Given the description of an element on the screen output the (x, y) to click on. 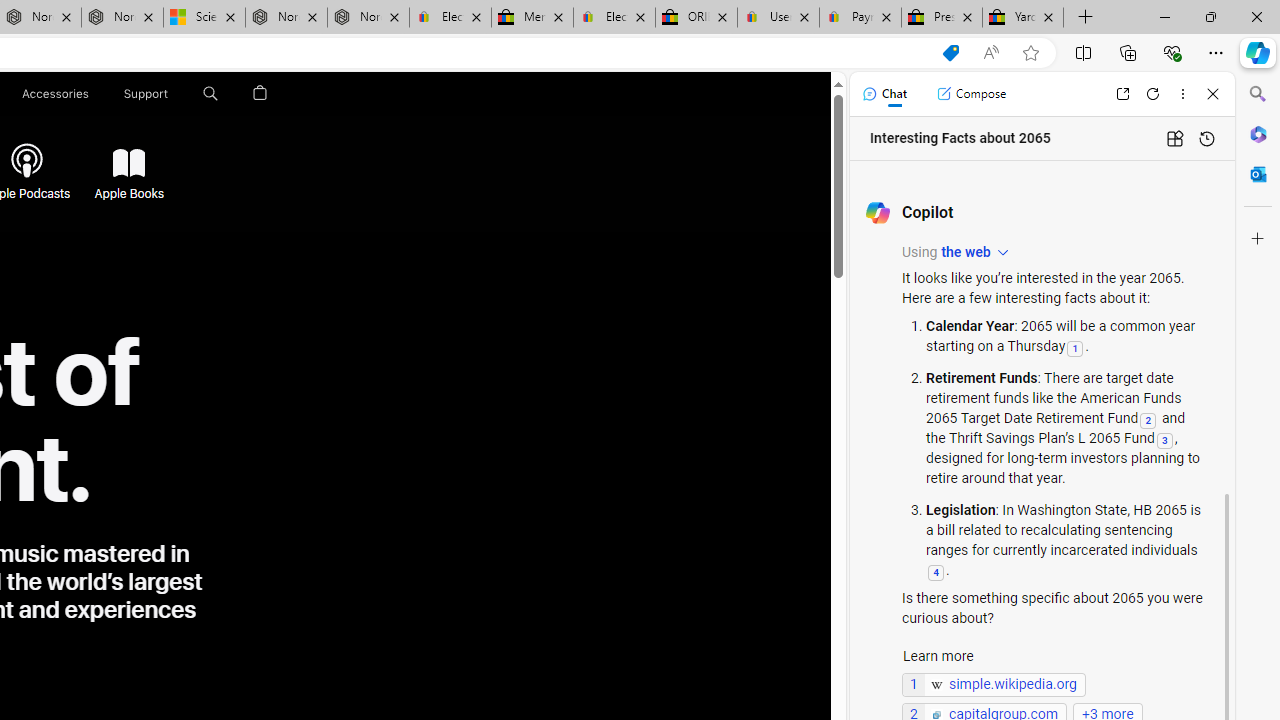
Nordace - FAQ (368, 17)
Apple Books (125, 162)
Class: globalnav-submenu-trigger-item (172, 93)
Accessories (54, 93)
Support menu (172, 93)
